Given the description of an element on the screen output the (x, y) to click on. 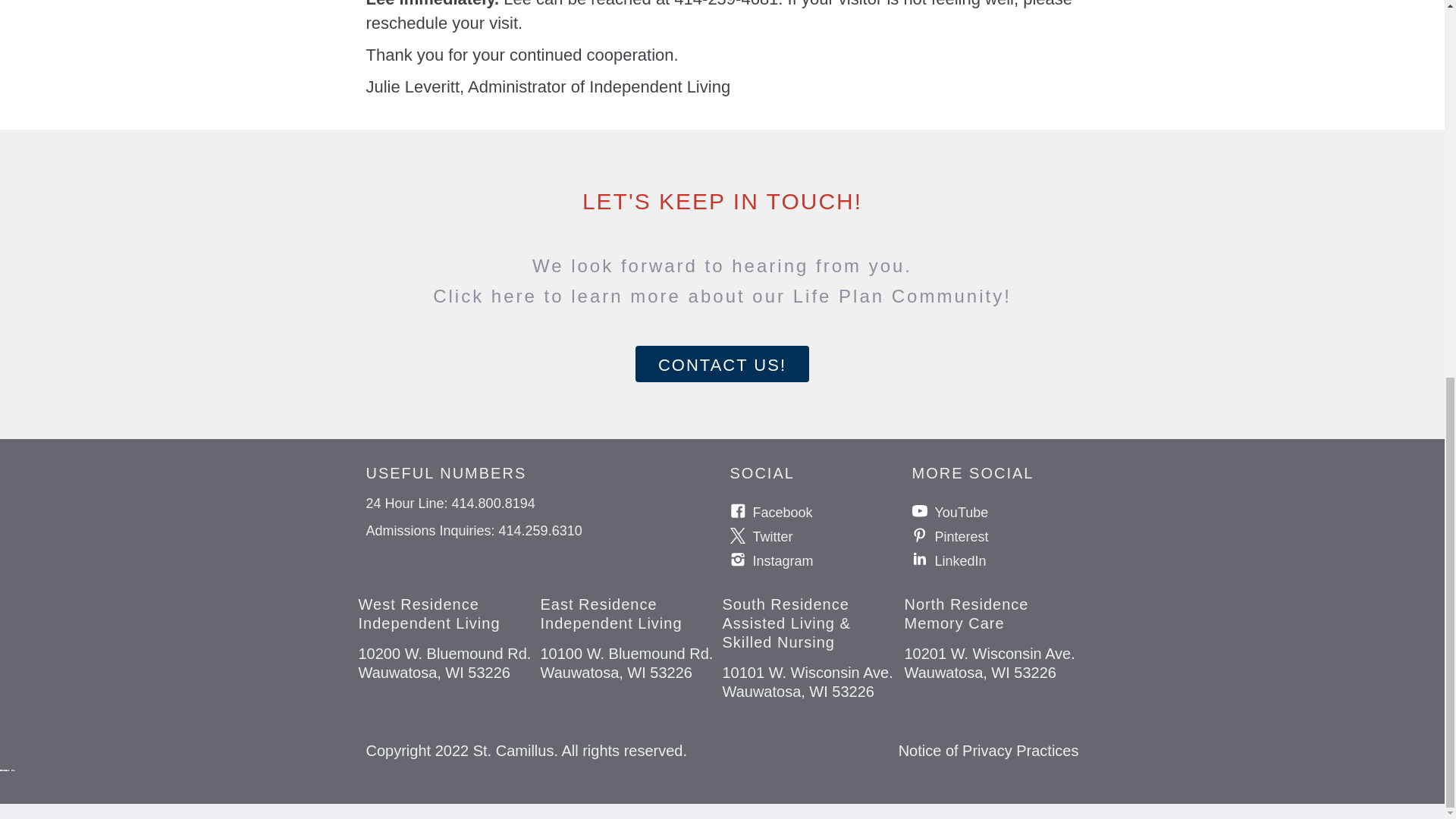
Instagram (824, 560)
Notice of Privacy Practices (988, 750)
Twitter (824, 535)
Pinterest (1006, 535)
24 Hour Line: 414.800.8194 (539, 507)
LinkedIn (1006, 560)
Facebook (824, 511)
Admissions Inquiries: 414.259.6310 (539, 534)
CONTACT US! (721, 363)
YouTube (1006, 511)
